Given the description of an element on the screen output the (x, y) to click on. 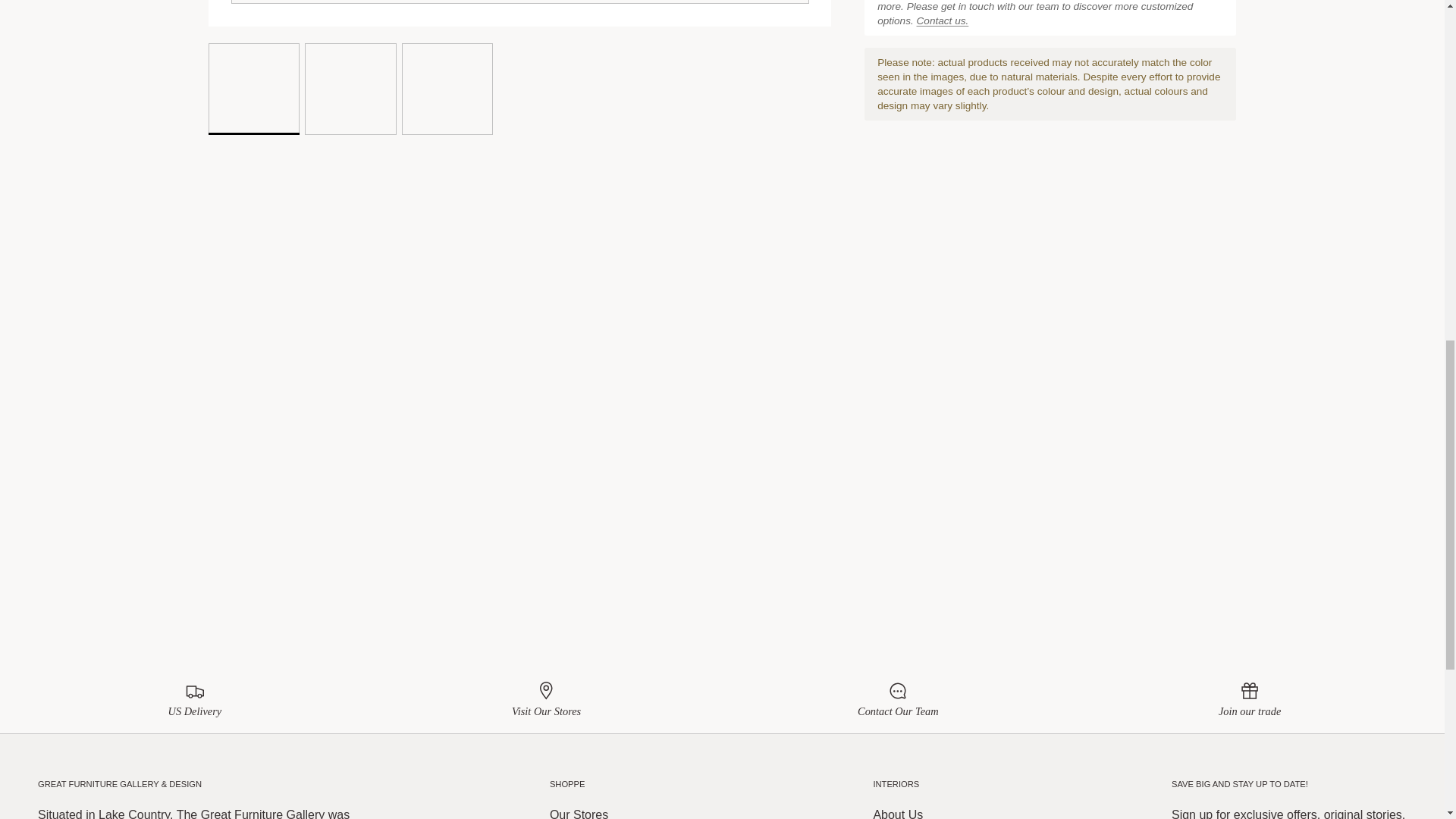
Contact (943, 20)
